Given the description of an element on the screen output the (x, y) to click on. 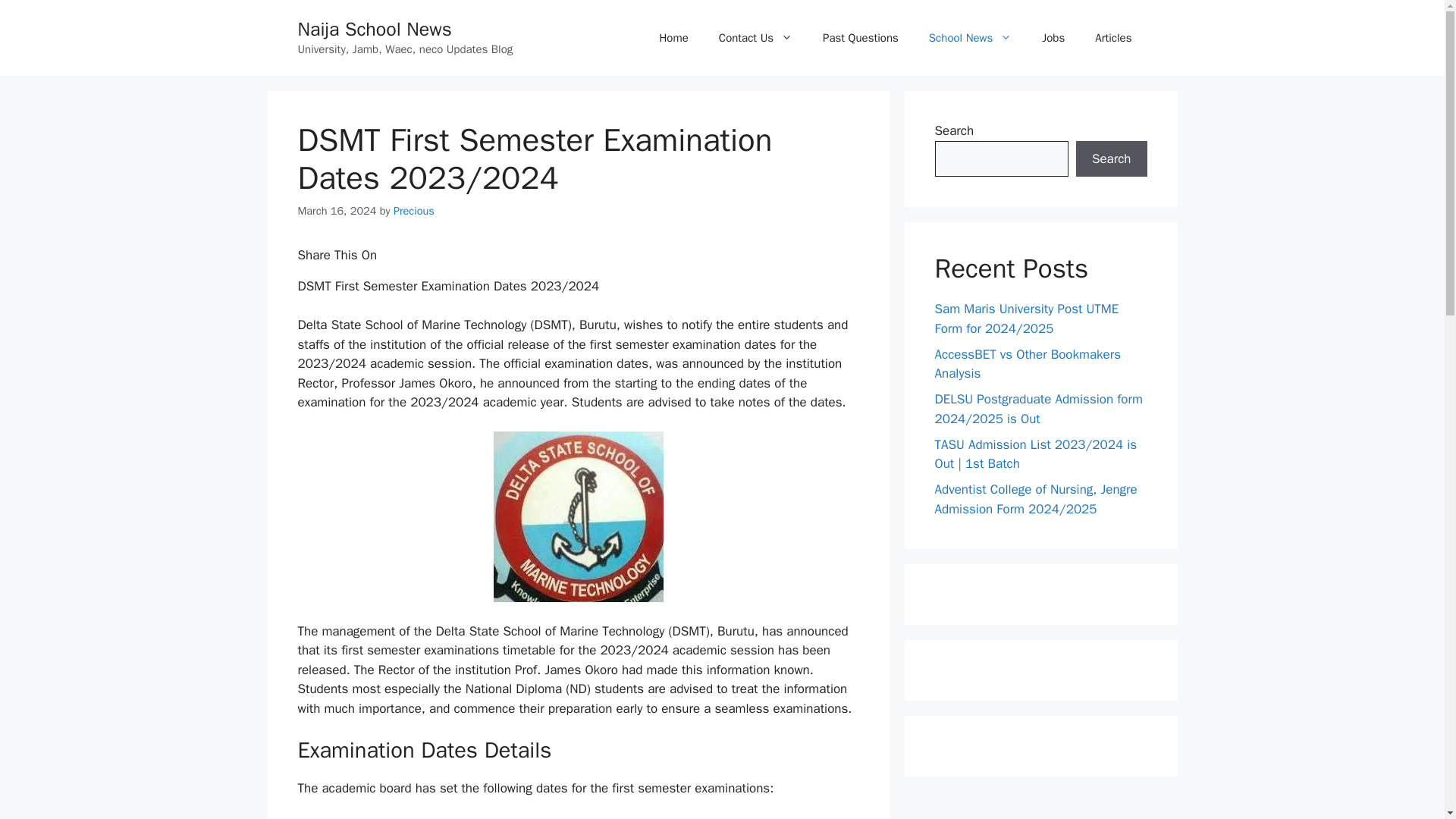
Precious (413, 210)
Jobs (1053, 37)
Naija School News (374, 28)
Articles (1113, 37)
School News (970, 37)
Home (673, 37)
View all posts by Precious (413, 210)
AccessBET vs Other Bookmakers Analysis (1027, 363)
Contact Us (755, 37)
Search (1111, 158)
Past Questions (861, 37)
